Given the description of an element on the screen output the (x, y) to click on. 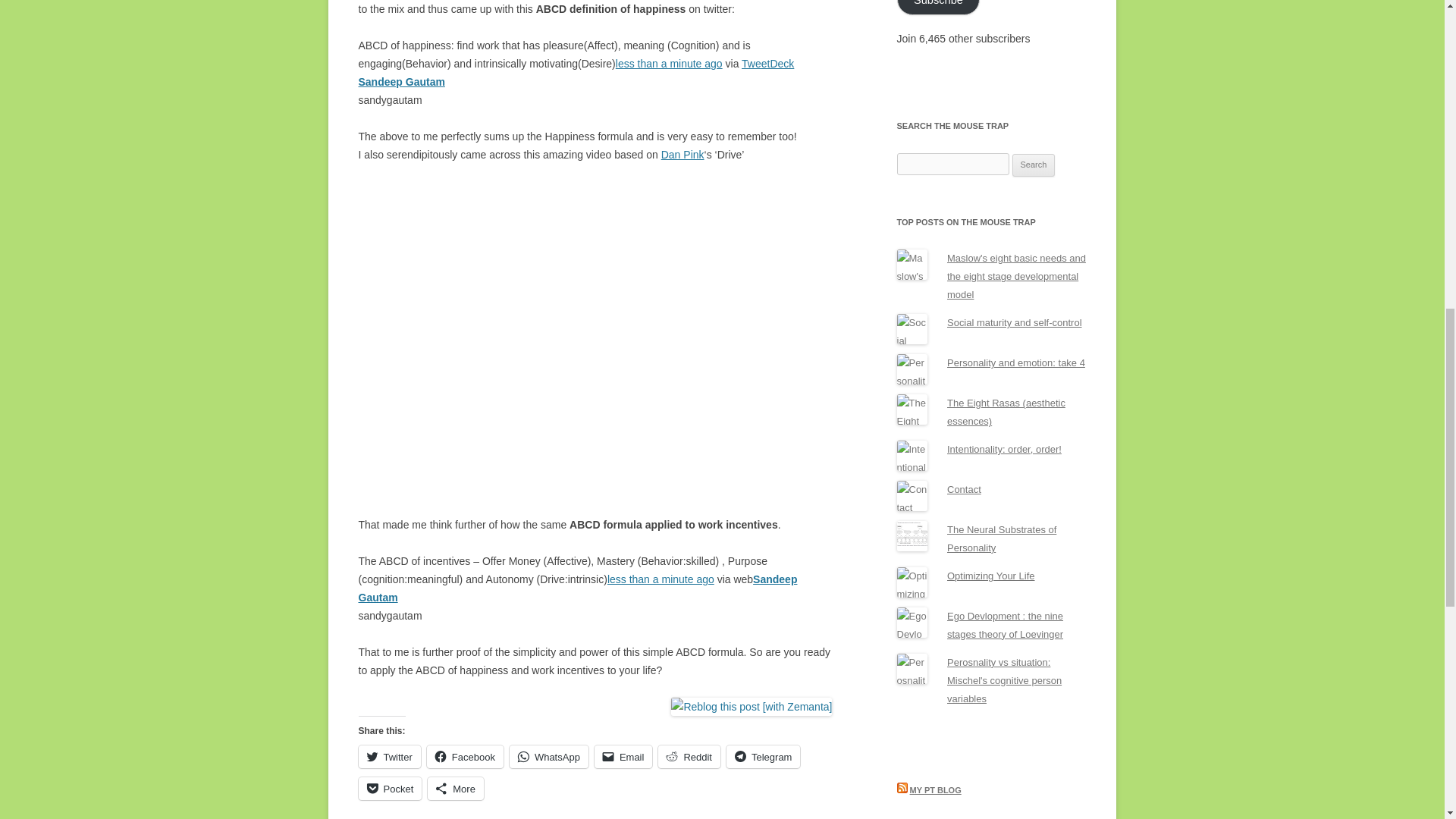
Sandeep Gautam (401, 81)
Facebook (464, 756)
Reddit (689, 756)
Email (623, 756)
Click to share on Twitter (389, 756)
less than a minute ago (660, 579)
Click to email a link to a friend (623, 756)
Telegram (762, 756)
More (455, 788)
Sandeep Gautam (577, 588)
